Given the description of an element on the screen output the (x, y) to click on. 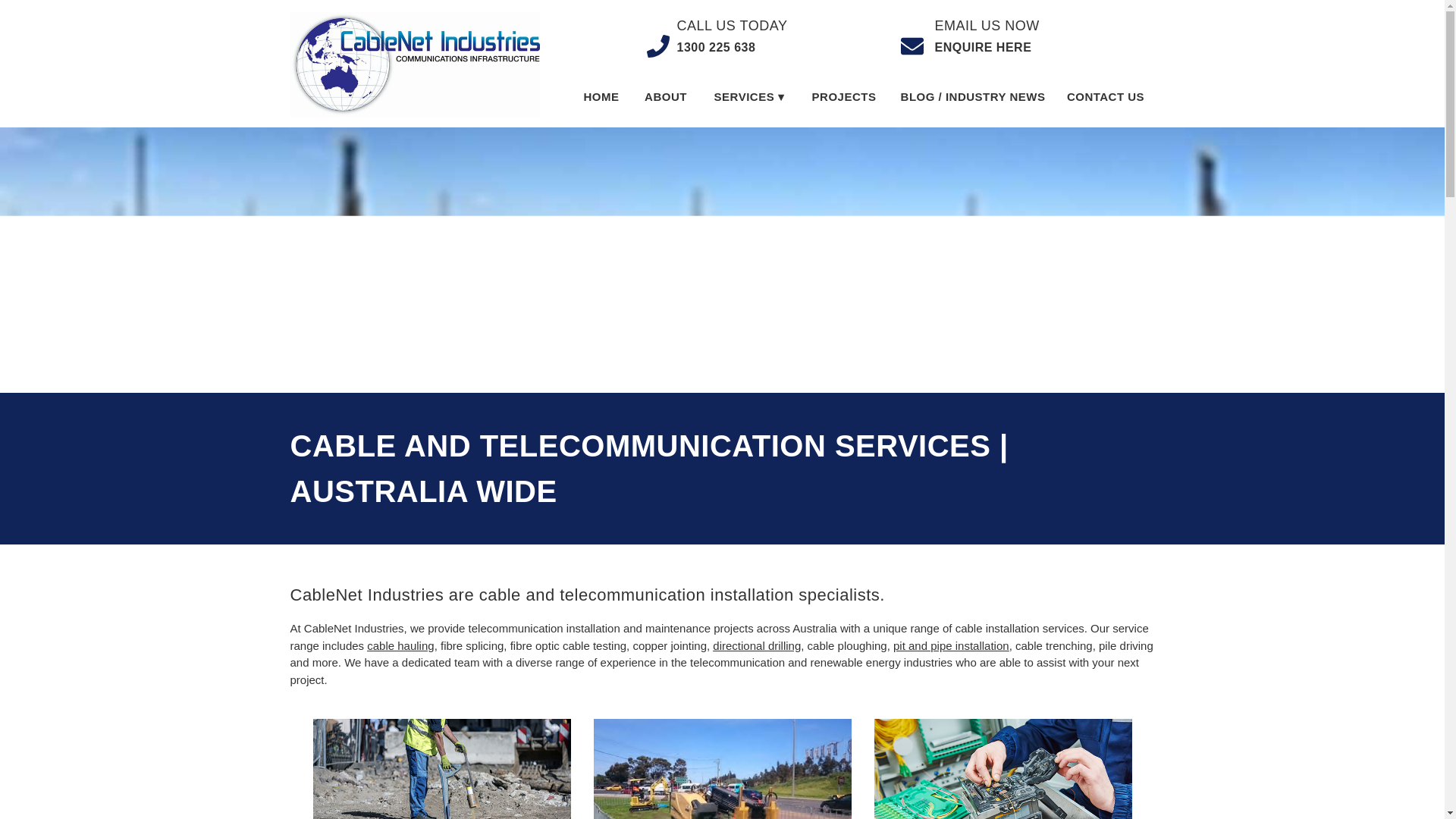
1300 225 638 (719, 47)
CONTACT US (1104, 96)
ENQUIRE HERE (994, 47)
directional drilling (756, 644)
HOME (600, 96)
pit and pipe installation (951, 644)
PROJECTS (842, 96)
ABOUT (664, 96)
cable hauling (399, 644)
